Given the description of an element on the screen output the (x, y) to click on. 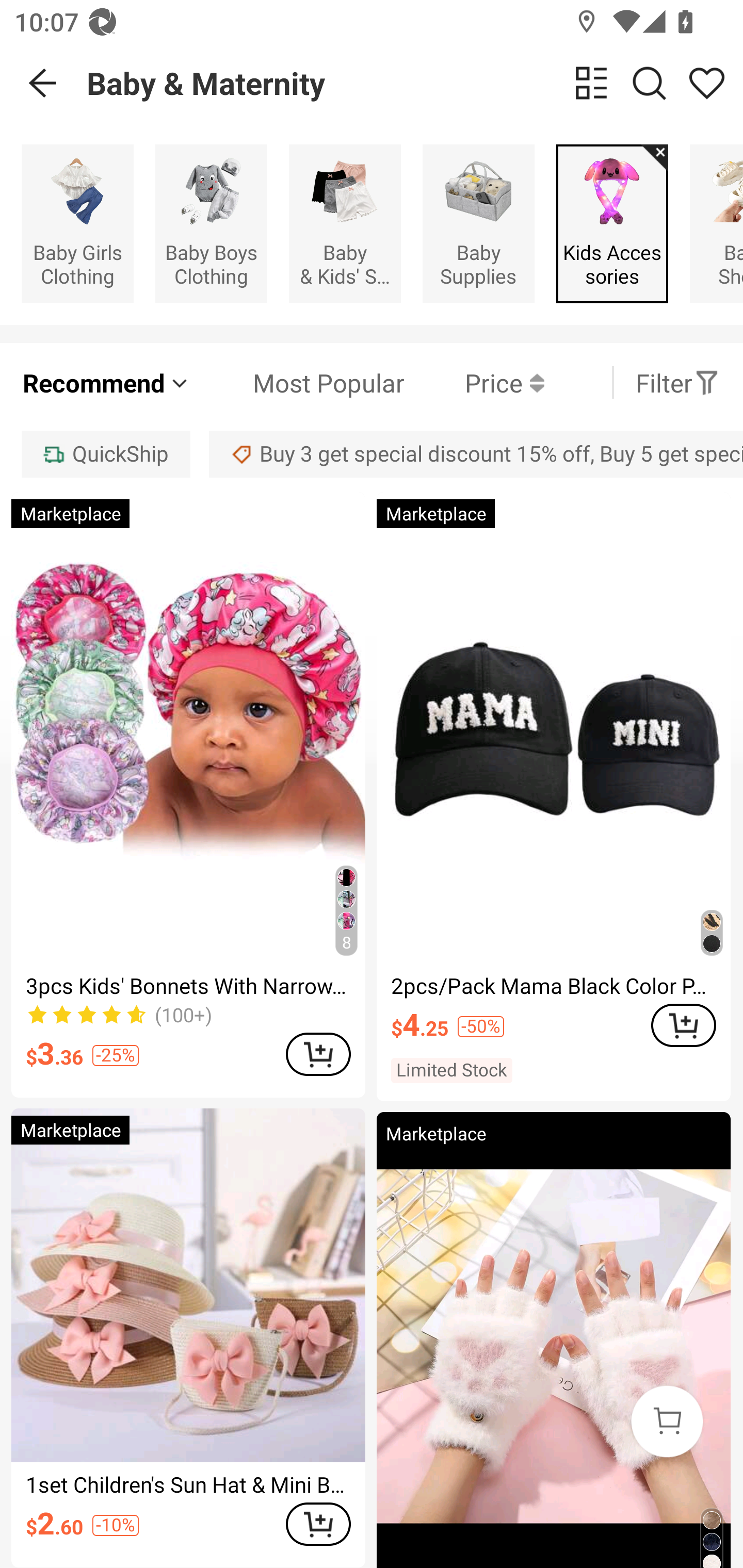
Baby & Maternity change view Search Share (414, 82)
change view (591, 82)
Search (648, 82)
Share (706, 82)
Baby Girls Clothing (77, 223)
Baby Boys Clothing (211, 223)
Baby & Kids' Socks & Tights (345, 223)
Baby Supplies (478, 223)
Kids Accessories (611, 223)
Recommend (106, 382)
Most Popular (297, 382)
Price (474, 382)
Filter (677, 382)
QuickShip (105, 454)
ADD TO CART (683, 1025)
ADD TO CART (318, 1054)
ADD TO CART (318, 1524)
